Given the description of an element on the screen output the (x, y) to click on. 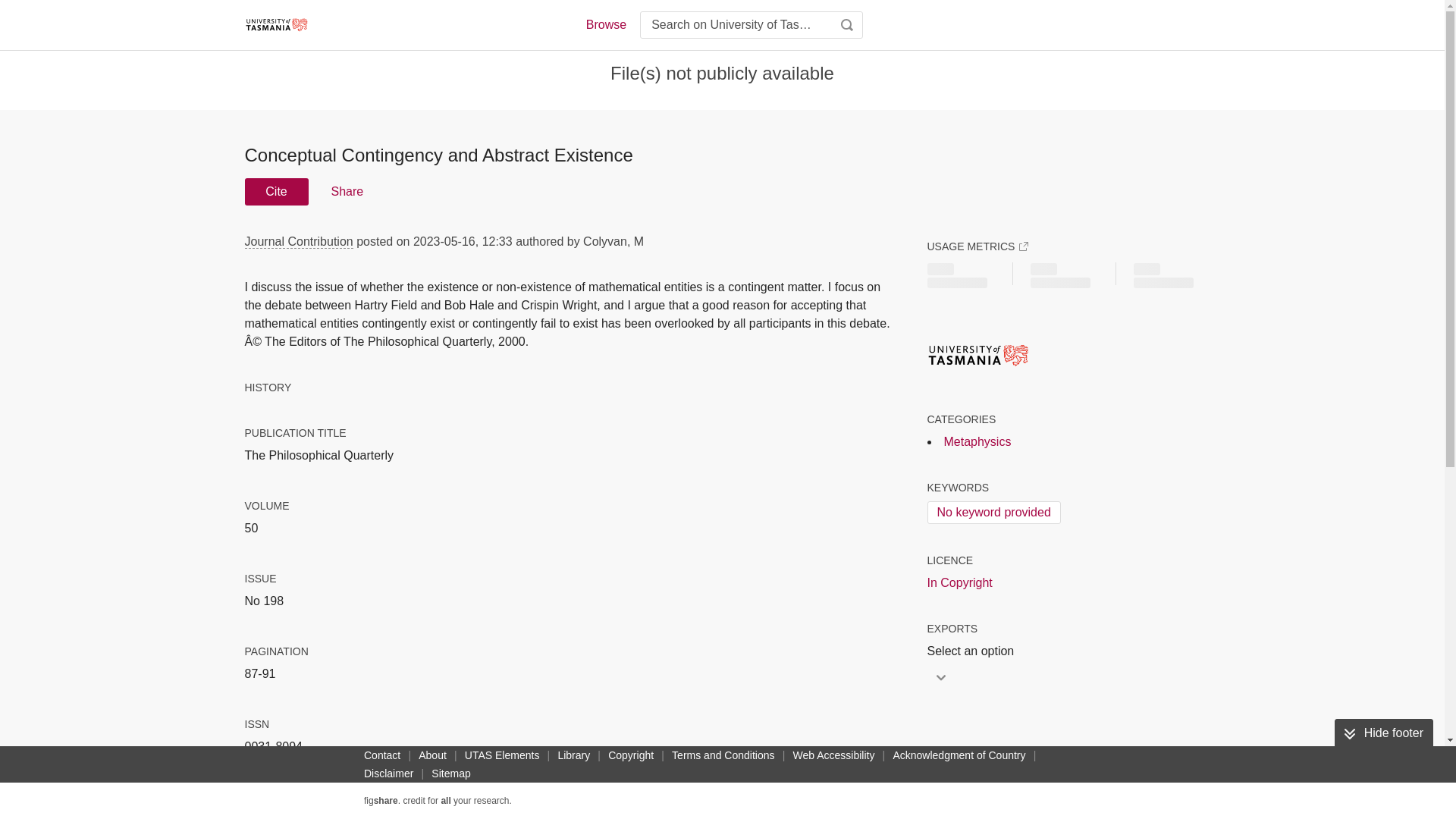
Share (346, 191)
Acknowledgment of Country (958, 755)
Browse (605, 24)
Contact (381, 755)
In Copyright (958, 583)
Select an option (974, 651)
Metaphysics (976, 440)
No keyword provided (992, 512)
Disclaimer (388, 773)
USAGE METRICS (976, 246)
